Given the description of an element on the screen output the (x, y) to click on. 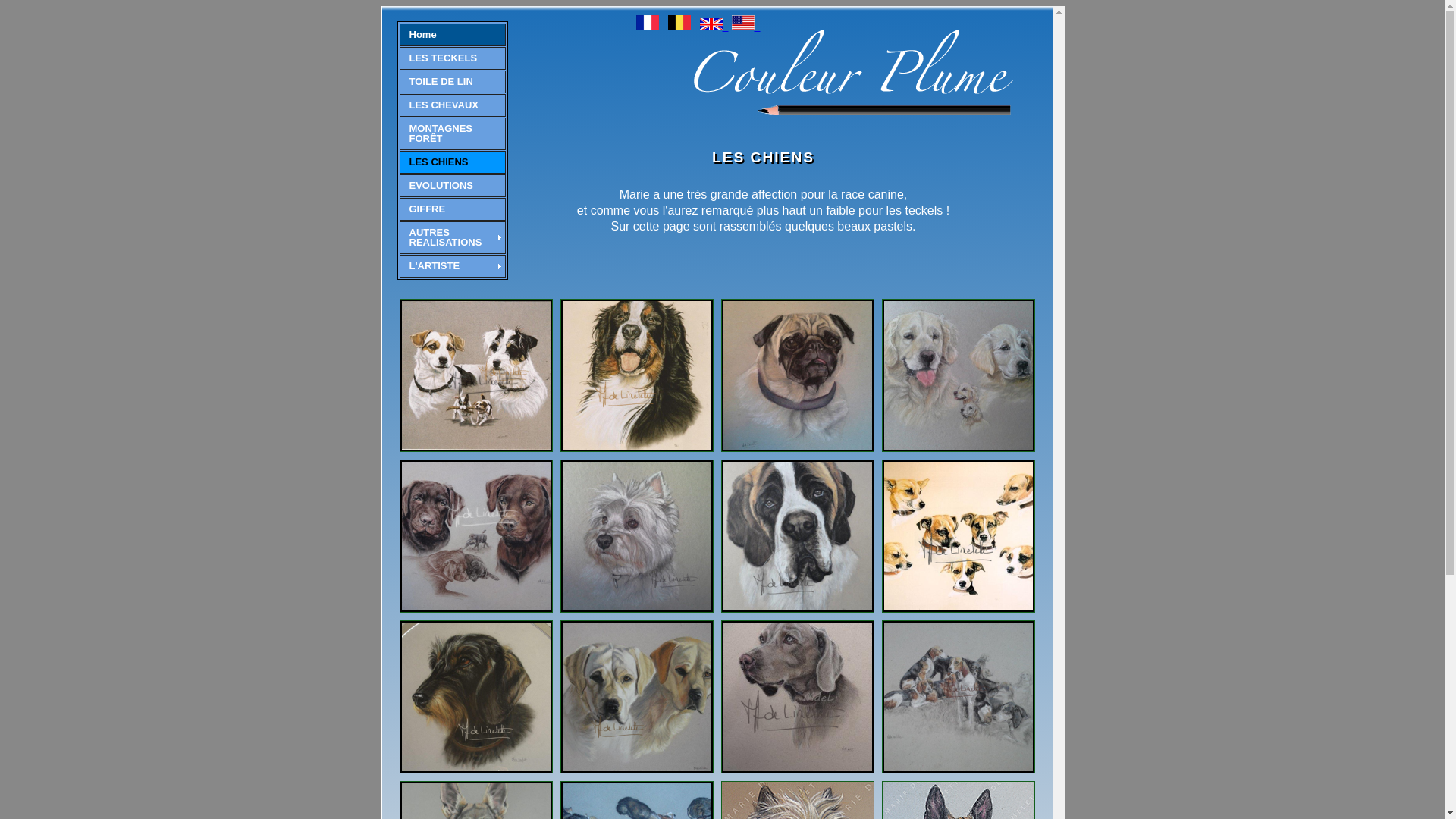
Home Element type: text (451, 34)
GIFFRE Element type: text (451, 208)
L'ARTISTE Element type: text (451, 265)
LES CHEVAUX Element type: text (451, 105)
LES TECKELS Element type: text (451, 58)
AUTRES REALISATIONS Element type: text (451, 237)
LES CHIENS Element type: text (451, 161)
EVOLUTIONS Element type: text (451, 185)
  Element type: text (713, 25)
TOILE DE LIN Element type: text (451, 81)
  Element type: text (745, 25)
